Given the description of an element on the screen output the (x, y) to click on. 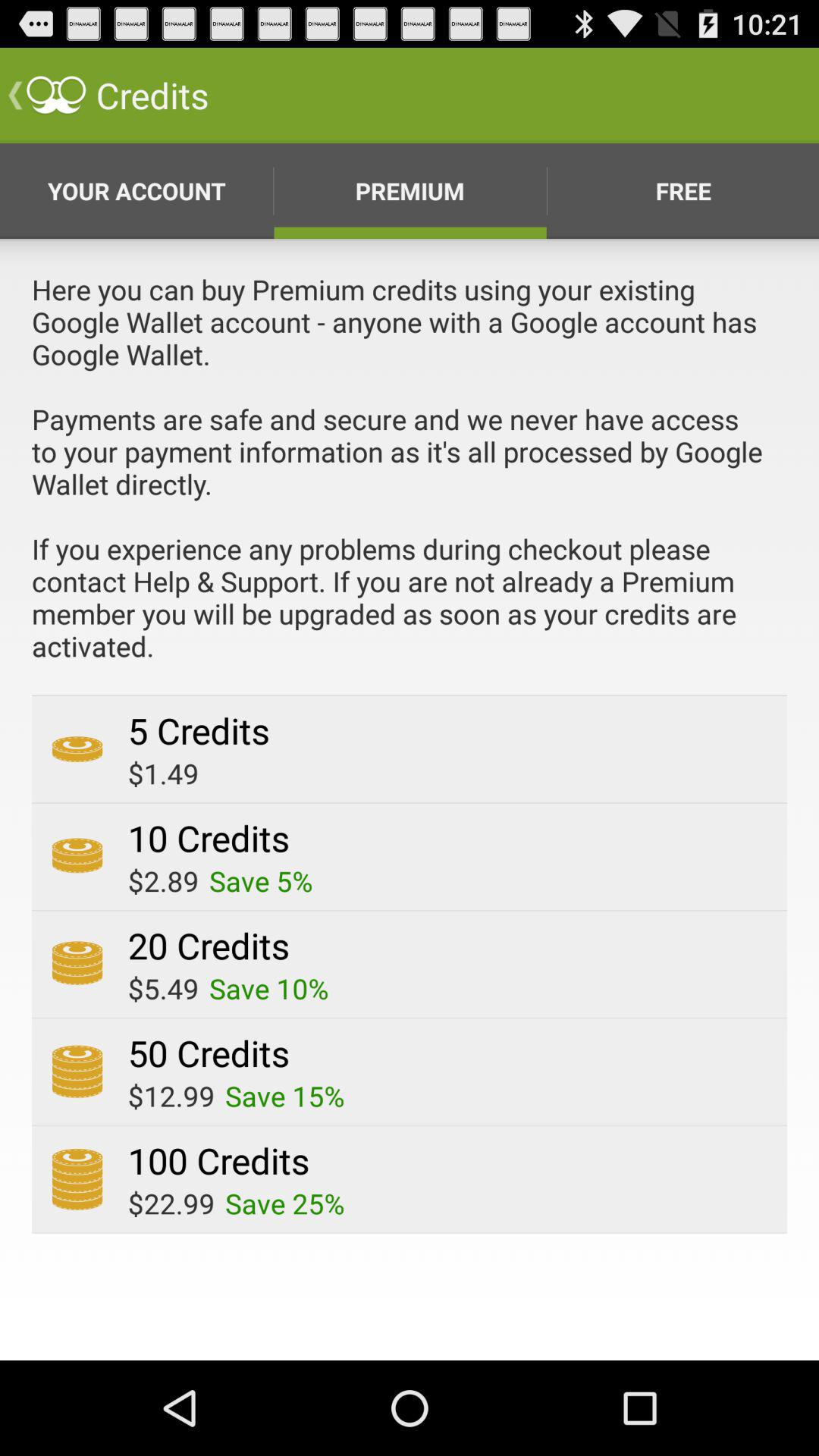
jump to 50 credits icon (208, 1052)
